Given the description of an element on the screen output the (x, y) to click on. 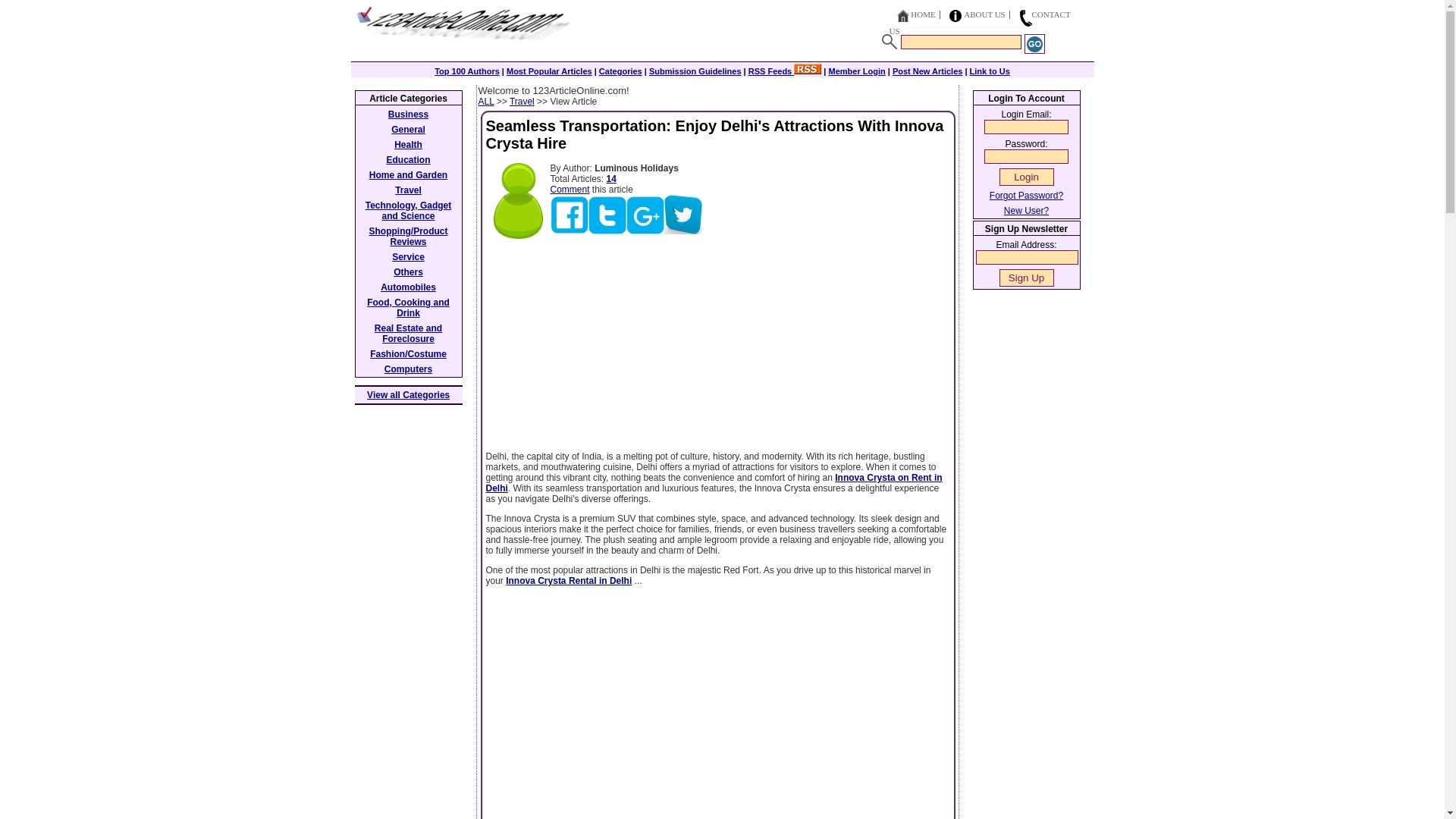
Comment (569, 189)
Categories (620, 71)
Submission Guidelines (695, 71)
14 (611, 178)
Top 100 Authors (466, 71)
Innova Crysta Rental in Delhi (568, 580)
Travel (521, 101)
ALL (485, 101)
Most Popular Articles (549, 71)
